Given the description of an element on the screen output the (x, y) to click on. 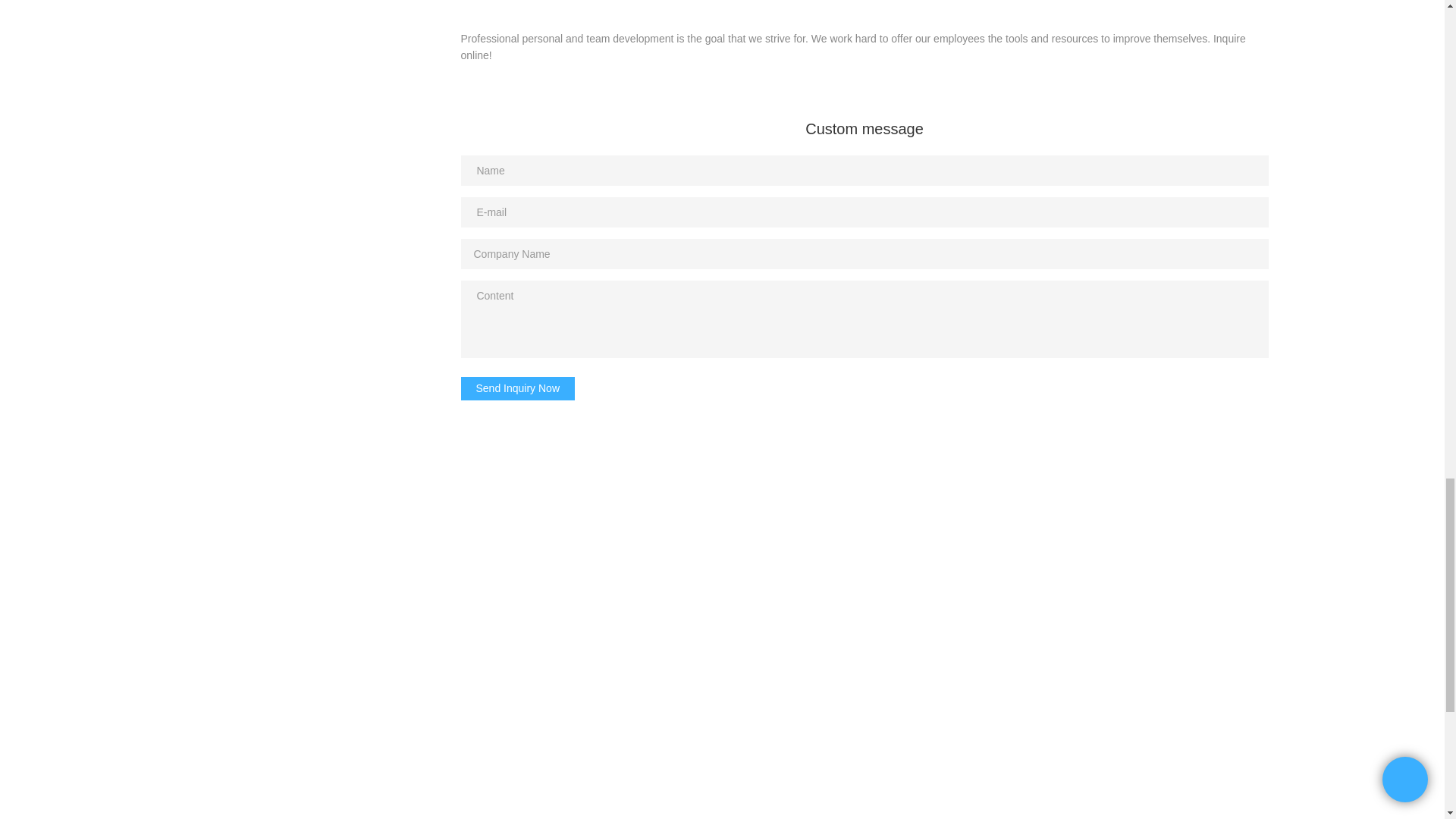
Send Inquiry Now (518, 387)
